Given the description of an element on the screen output the (x, y) to click on. 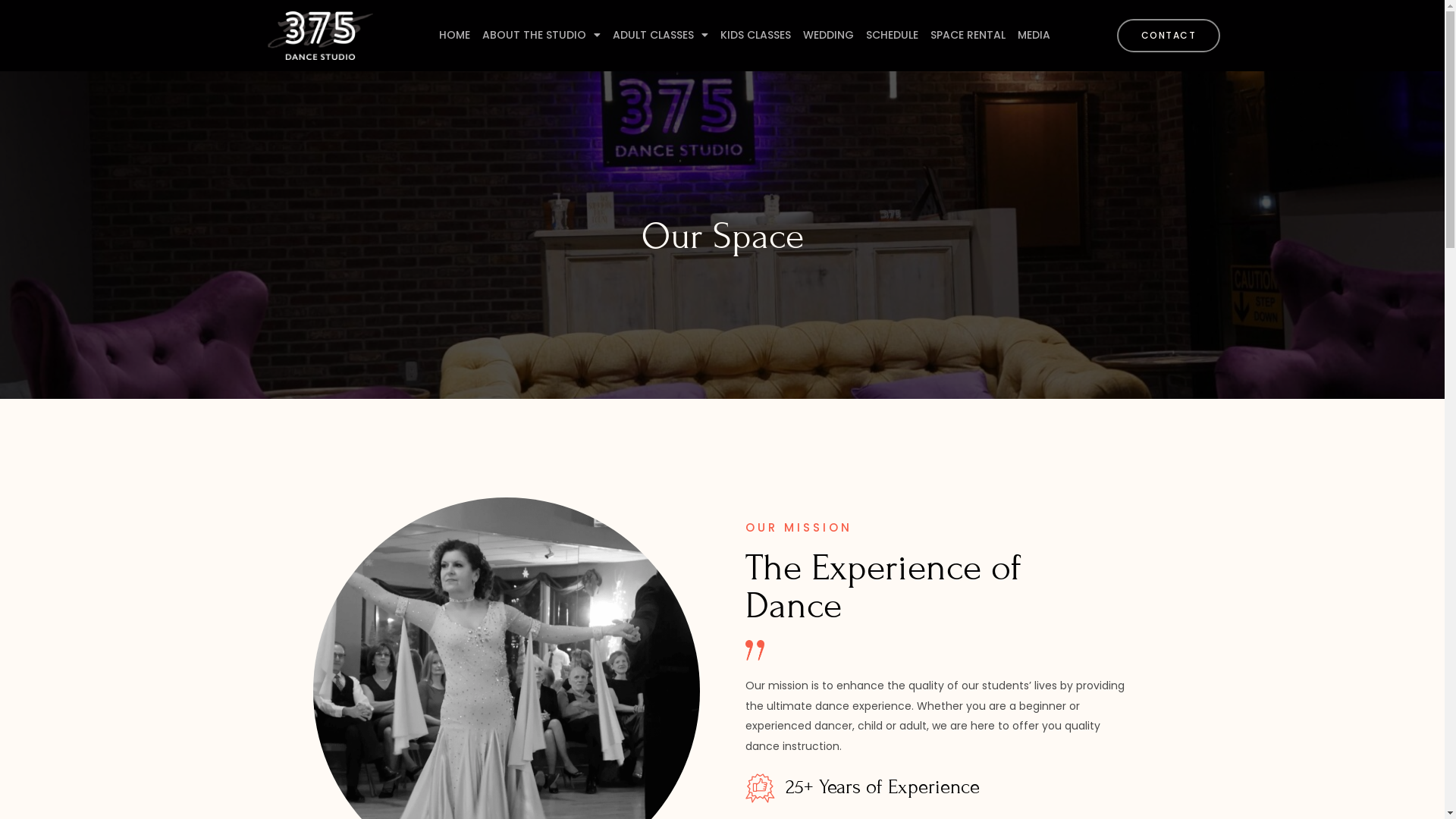
HOME Element type: text (454, 34)
MEDIA Element type: text (1033, 34)
SCHEDULE Element type: text (891, 34)
ADULT CLASSES Element type: text (660, 34)
WEDDING Element type: text (828, 34)
SPACE RENTAL Element type: text (967, 34)
KIDS CLASSES Element type: text (755, 34)
CONTACT Element type: text (1168, 35)
ABOUT THE STUDIO Element type: text (541, 34)
